Given the description of an element on the screen output the (x, y) to click on. 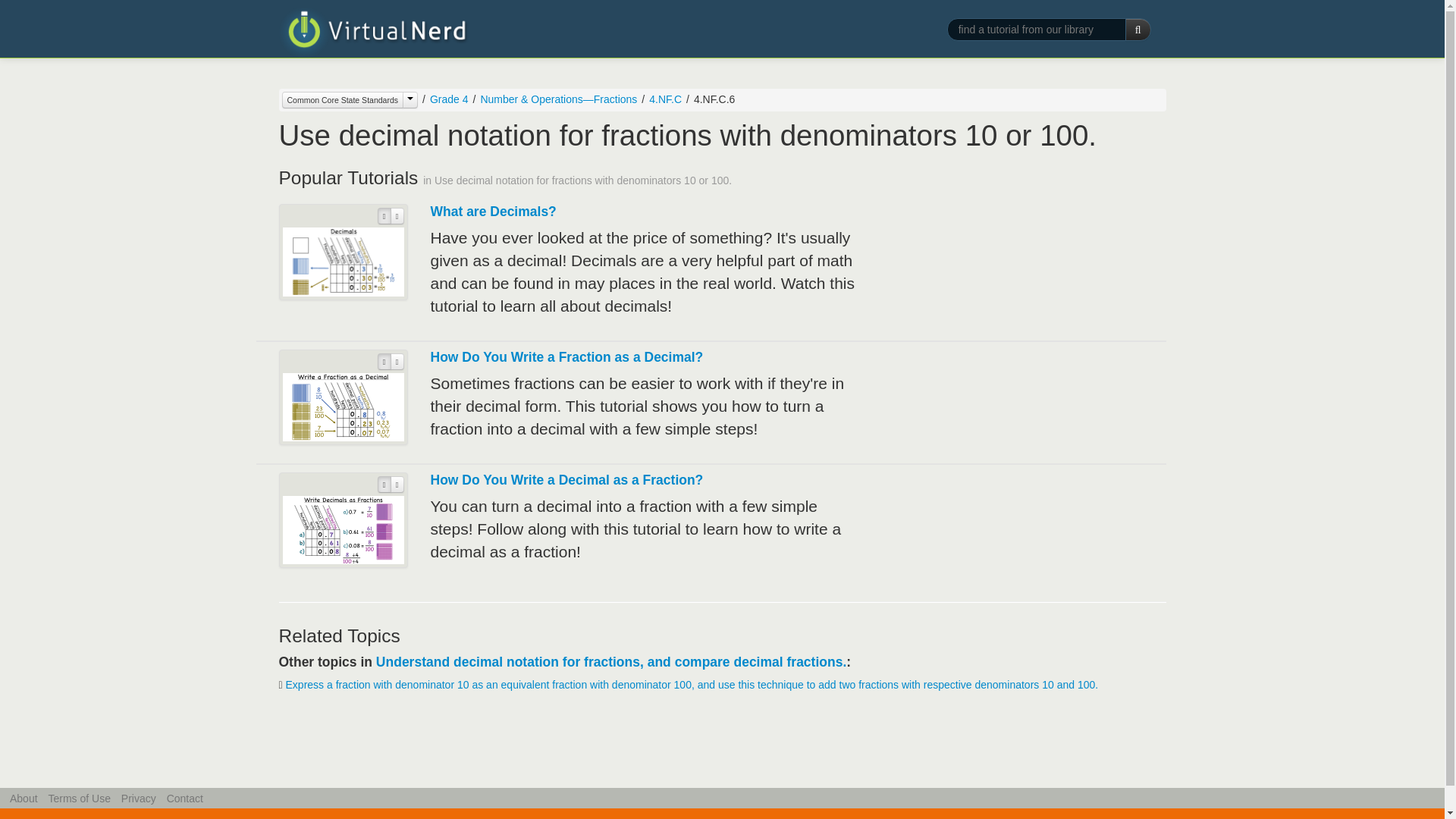
Common Core State Standards (350, 99)
Common Core State Standards (343, 99)
What are Decimals? (493, 211)
Grade 4 (442, 99)
Virtual Nerd (373, 32)
Privacy (137, 798)
4.NF.C (665, 99)
How Do You Write a Fraction as a Decimal? (566, 356)
Terms of Use (79, 798)
Grade 4 (448, 99)
How Do You Write a Decimal as a Fraction? (566, 479)
Contact (185, 798)
